Given the description of an element on the screen output the (x, y) to click on. 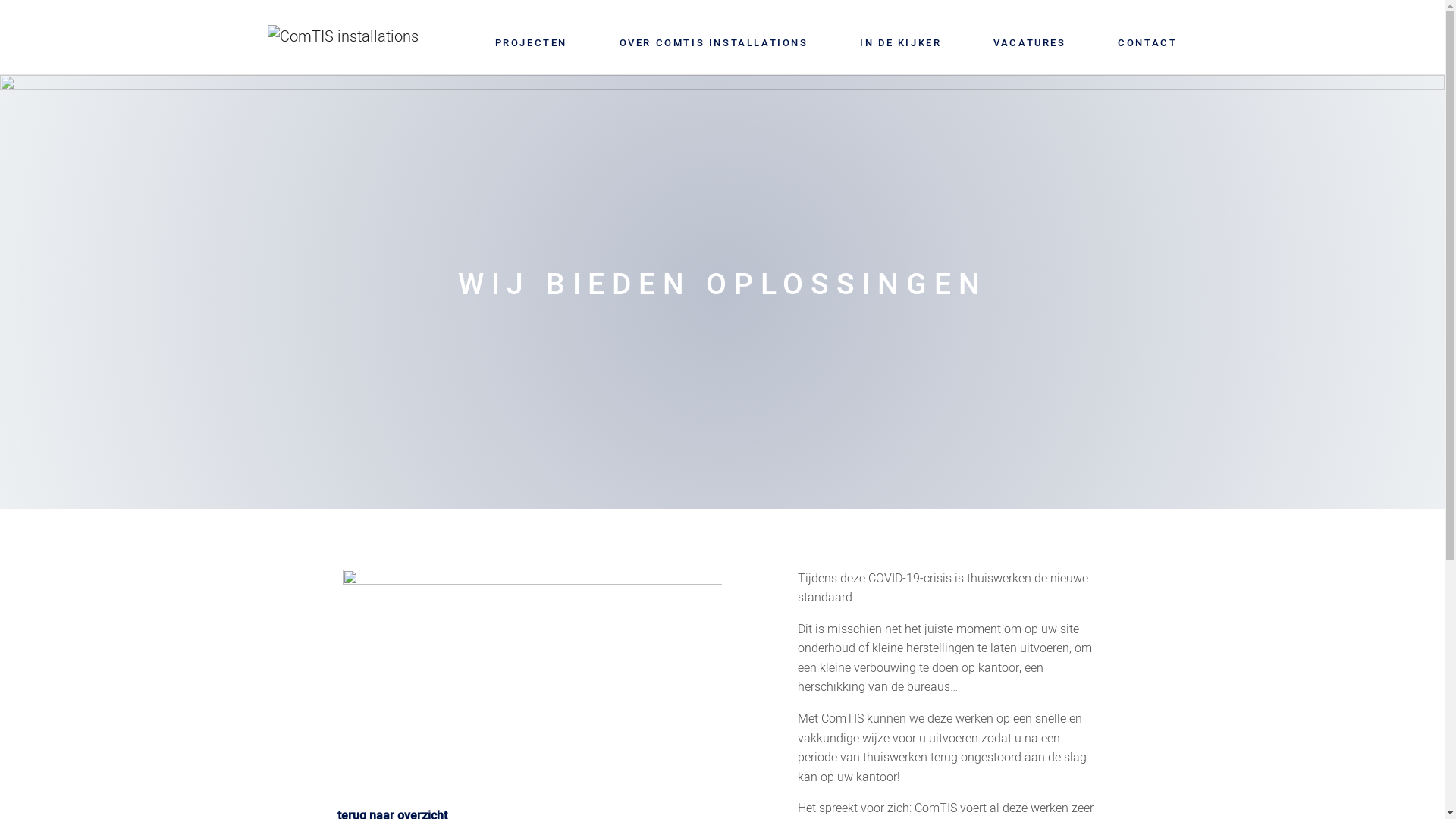
CONTACT Element type: text (1146, 42)
PROJECTEN Element type: text (530, 42)
IN DE KIJKER Element type: text (900, 42)
VACATURES Element type: text (1029, 42)
OVER COMTIS INSTALLATIONS Element type: text (713, 42)
